Given the description of an element on the screen output the (x, y) to click on. 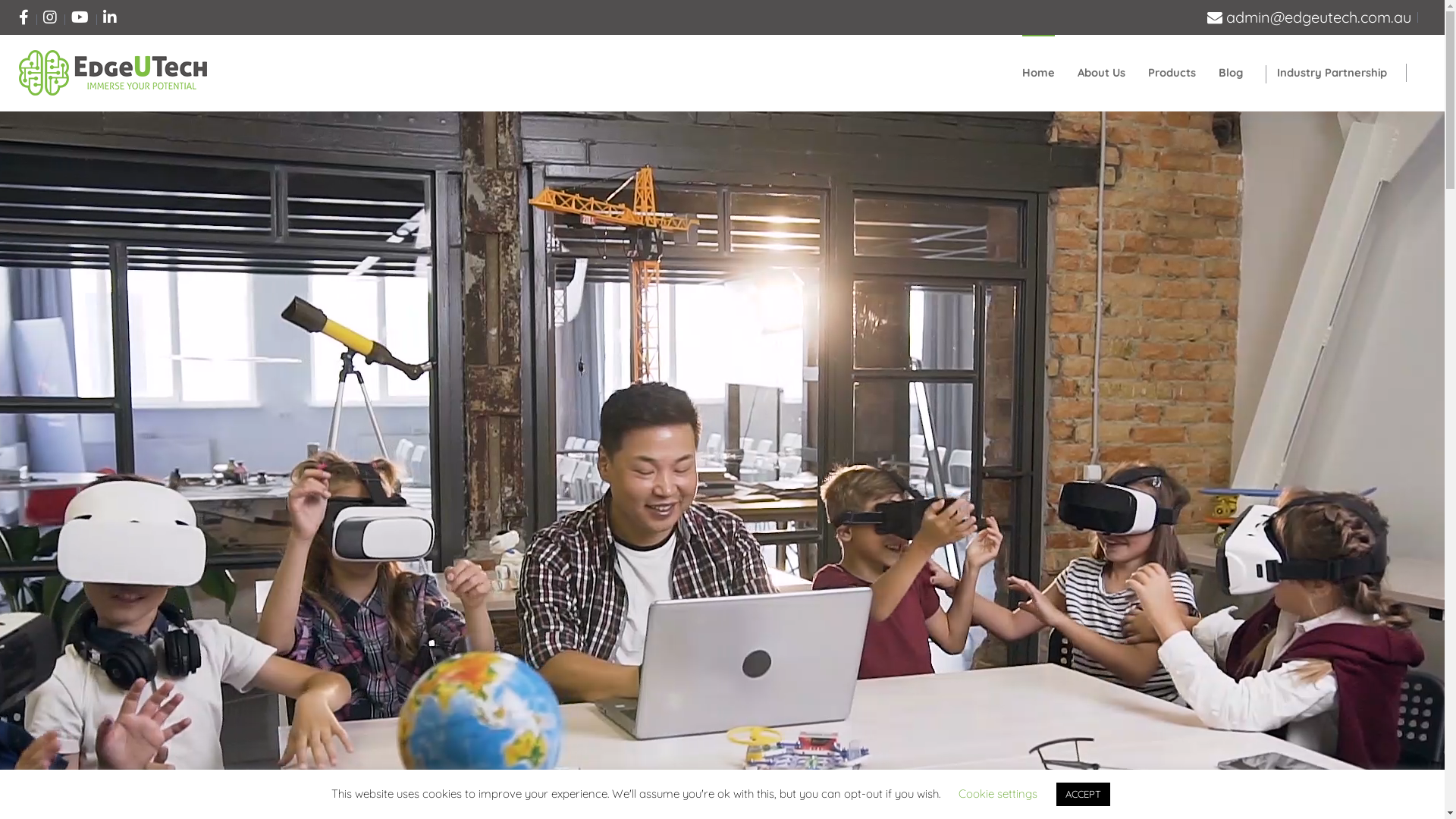
admin@edgeutech.com.au Element type: text (1309, 16)
About Us Element type: text (1101, 72)
Products Element type: text (1171, 72)
Home Element type: text (1038, 72)
Cookie settings Element type: text (997, 793)
Blog Element type: text (1230, 72)
ACCEPT Element type: text (1082, 794)
Skip to content Element type: text (0, 0)
Industry Partnership Element type: text (1331, 72)
